Given the description of an element on the screen output the (x, y) to click on. 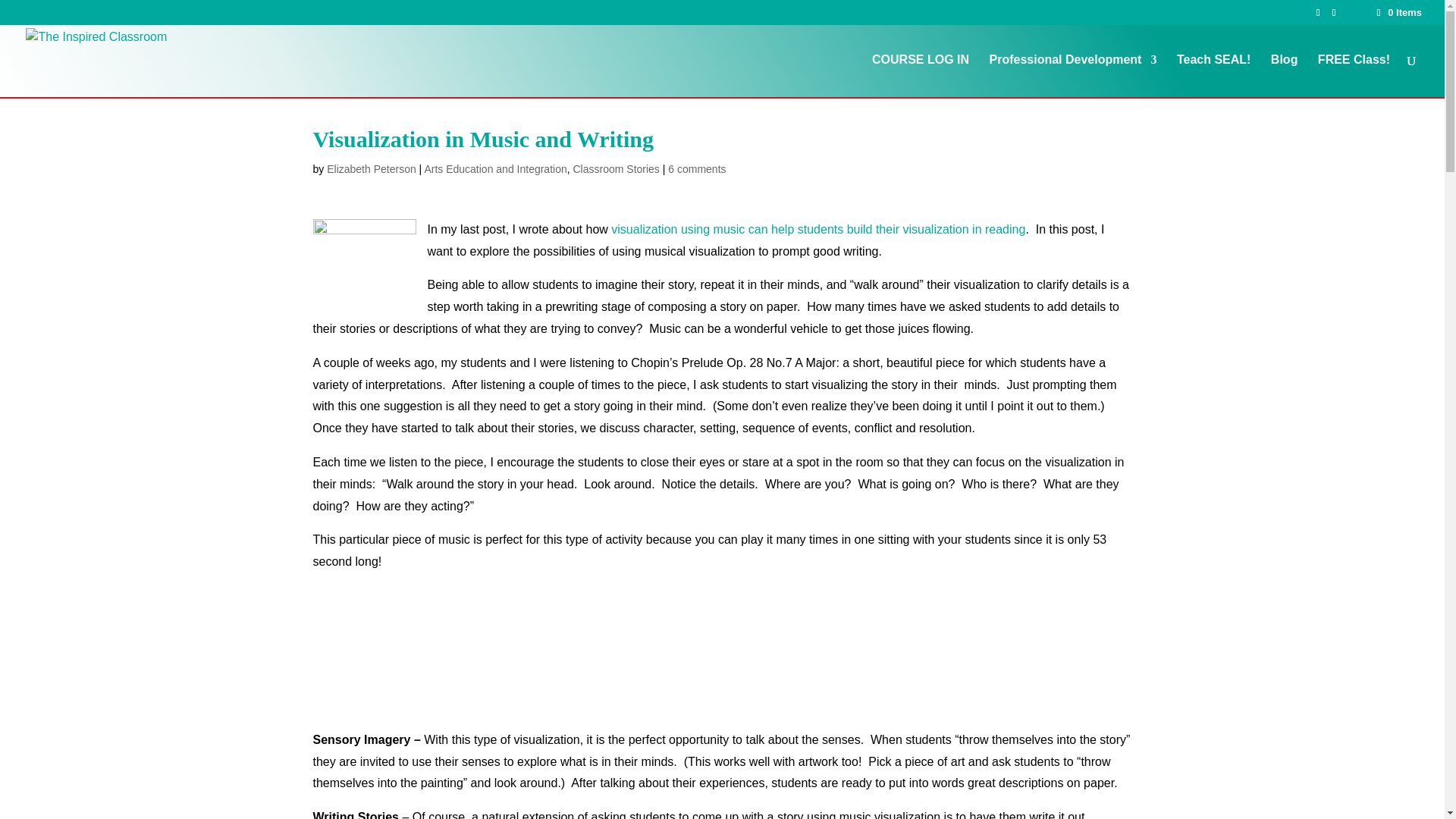
Arts Education and Integration (494, 168)
Classroom Stories (616, 168)
FREE Class! (1353, 75)
COURSE LOG IN (920, 75)
Teach SEAL! (1213, 75)
6 comments (696, 168)
Elizabeth Peterson (371, 168)
Posts by Elizabeth Peterson (371, 168)
0 Items (1398, 12)
Professional Development (1072, 75)
